Given the description of an element on the screen output the (x, y) to click on. 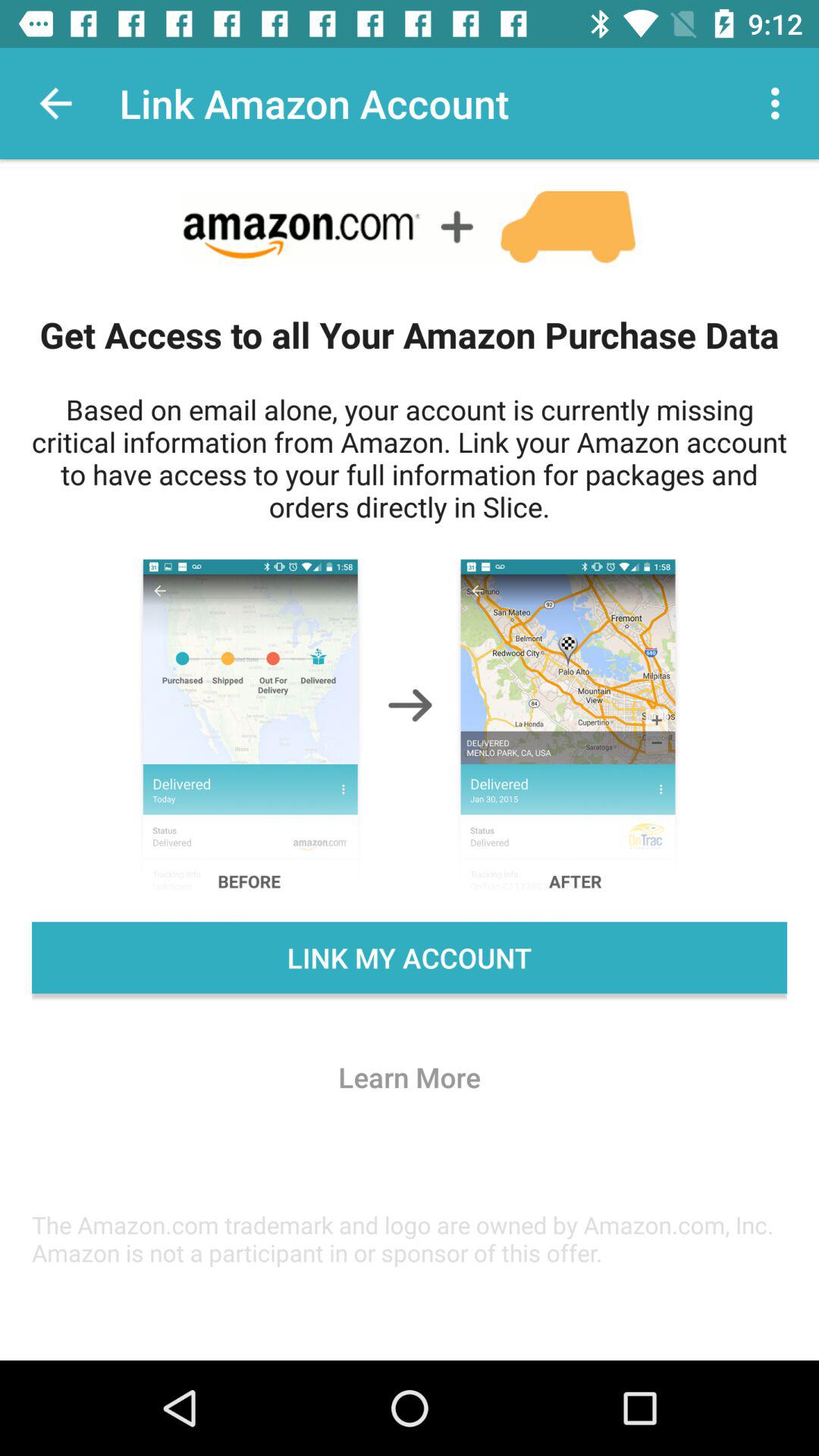
tap icon at the top left corner (55, 103)
